Given the description of an element on the screen output the (x, y) to click on. 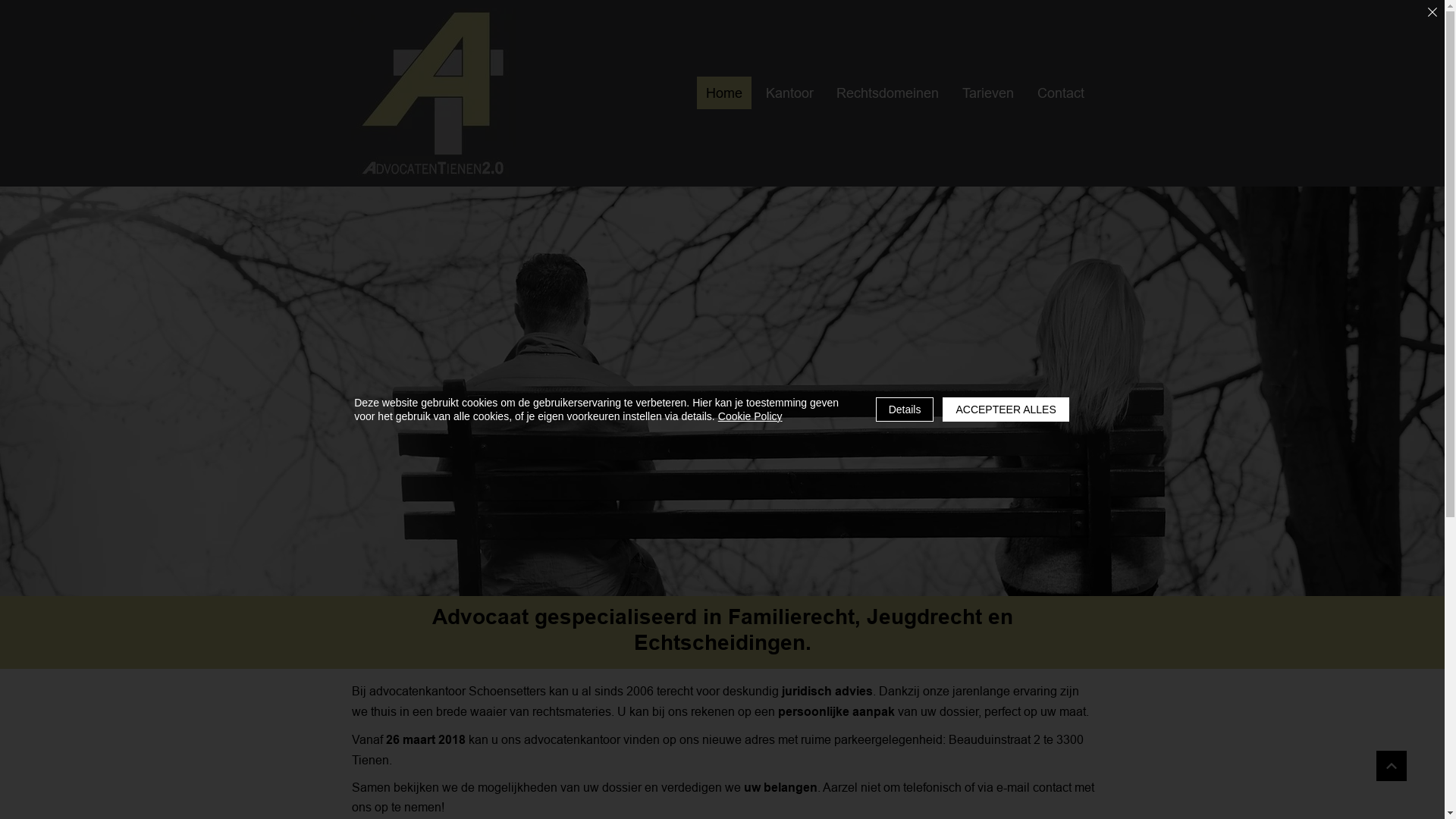
ACCEPTEER ALLES Element type: text (1005, 409)
Home Element type: text (723, 92)
Kantoor Element type: text (789, 92)
Tarieven Element type: text (988, 92)
Details Element type: text (904, 409)
Rechtsdomeinen Element type: text (887, 92)
Contact Element type: text (1061, 92)
Cookie Policy Element type: text (750, 416)
